Given the description of an element on the screen output the (x, y) to click on. 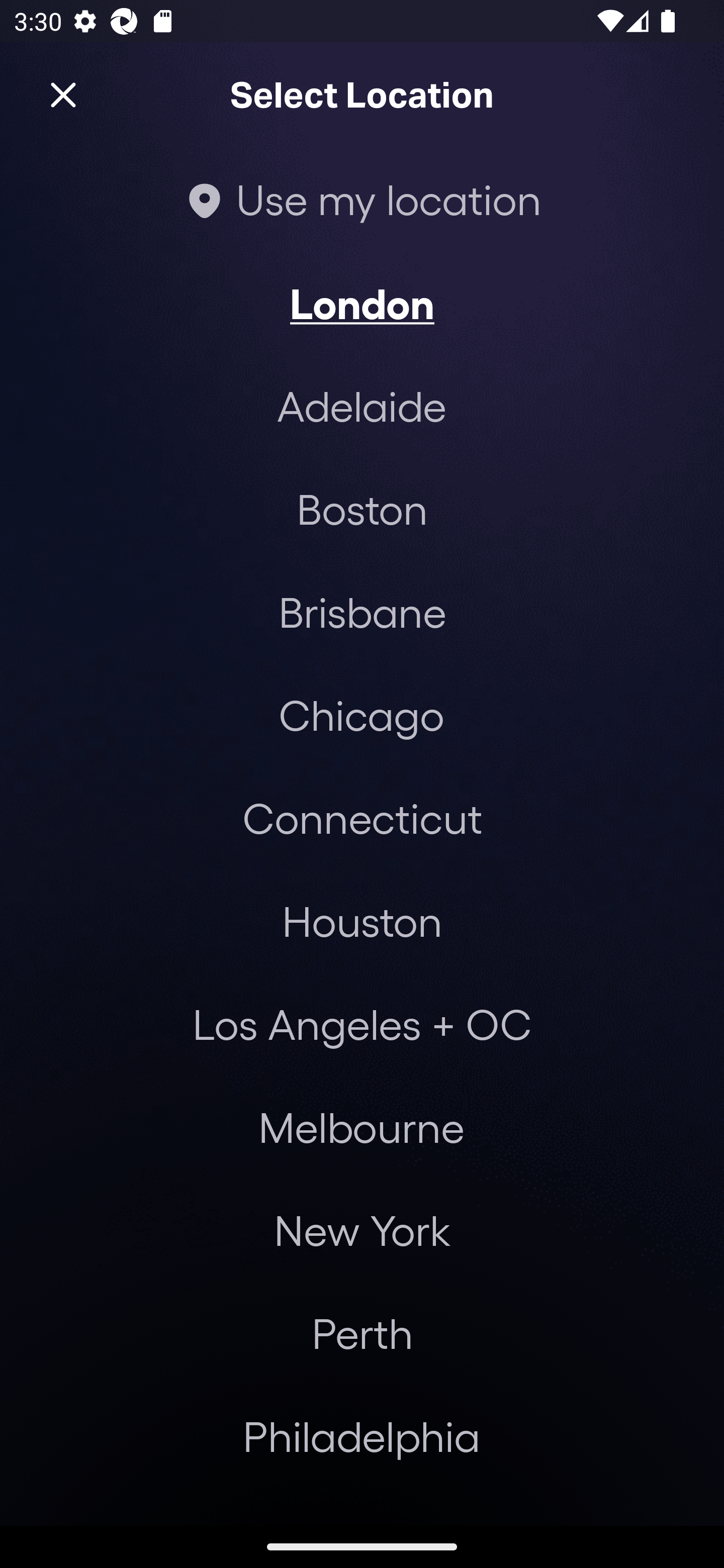
Close (62, 95)
   Use my location (362, 198)
London (361, 302)
Adelaide (361, 405)
Boston (361, 508)
Brisbane (361, 611)
Chicago (361, 714)
Connecticut (361, 817)
Houston (361, 920)
Los Angeles + OC (361, 1023)
Melbourne (361, 1127)
New York (361, 1230)
Perth (361, 1332)
Philadelphia (361, 1436)
